Given the description of an element on the screen output the (x, y) to click on. 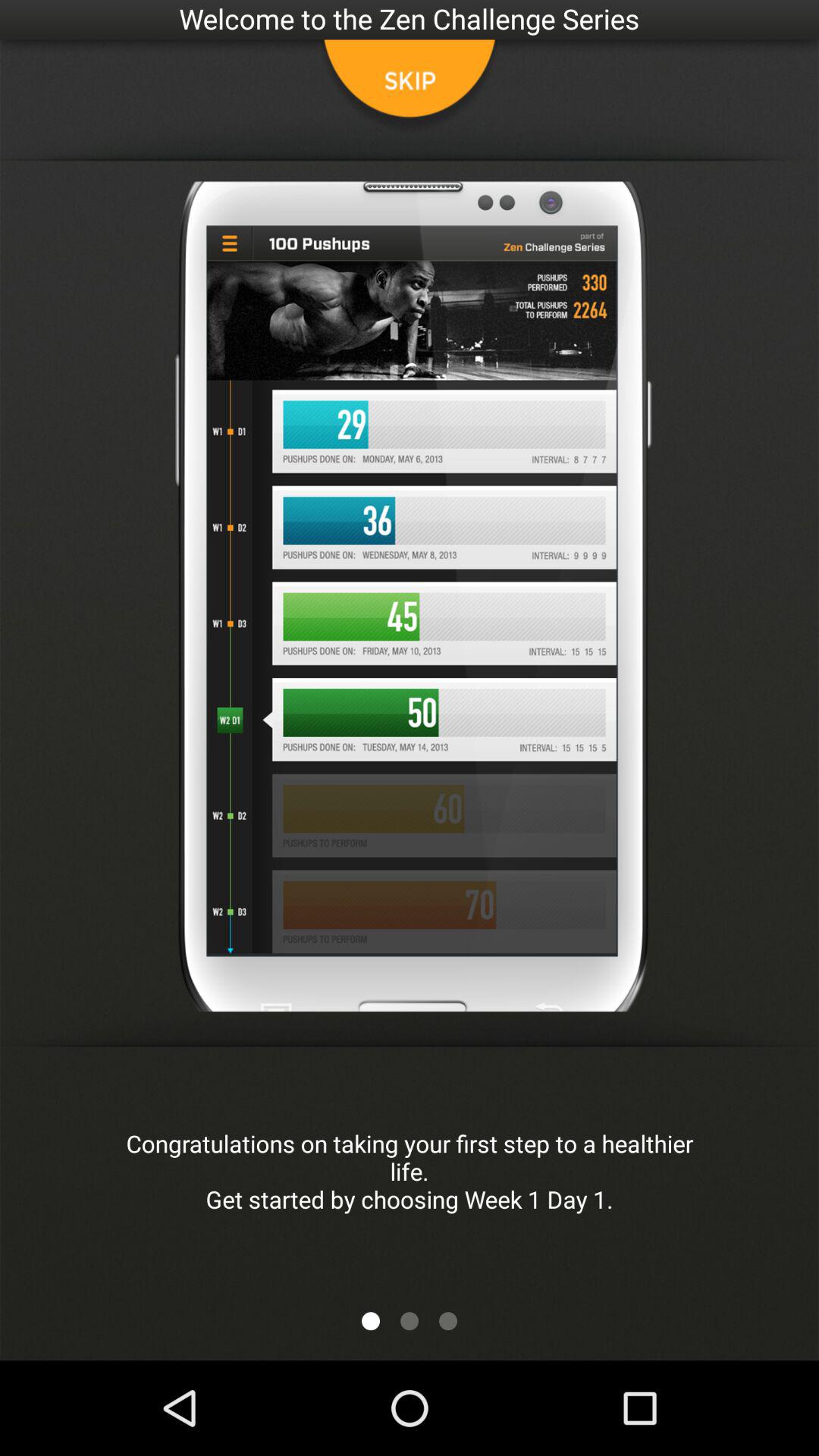
switch autoplay option (370, 1321)
